Given the description of an element on the screen output the (x, y) to click on. 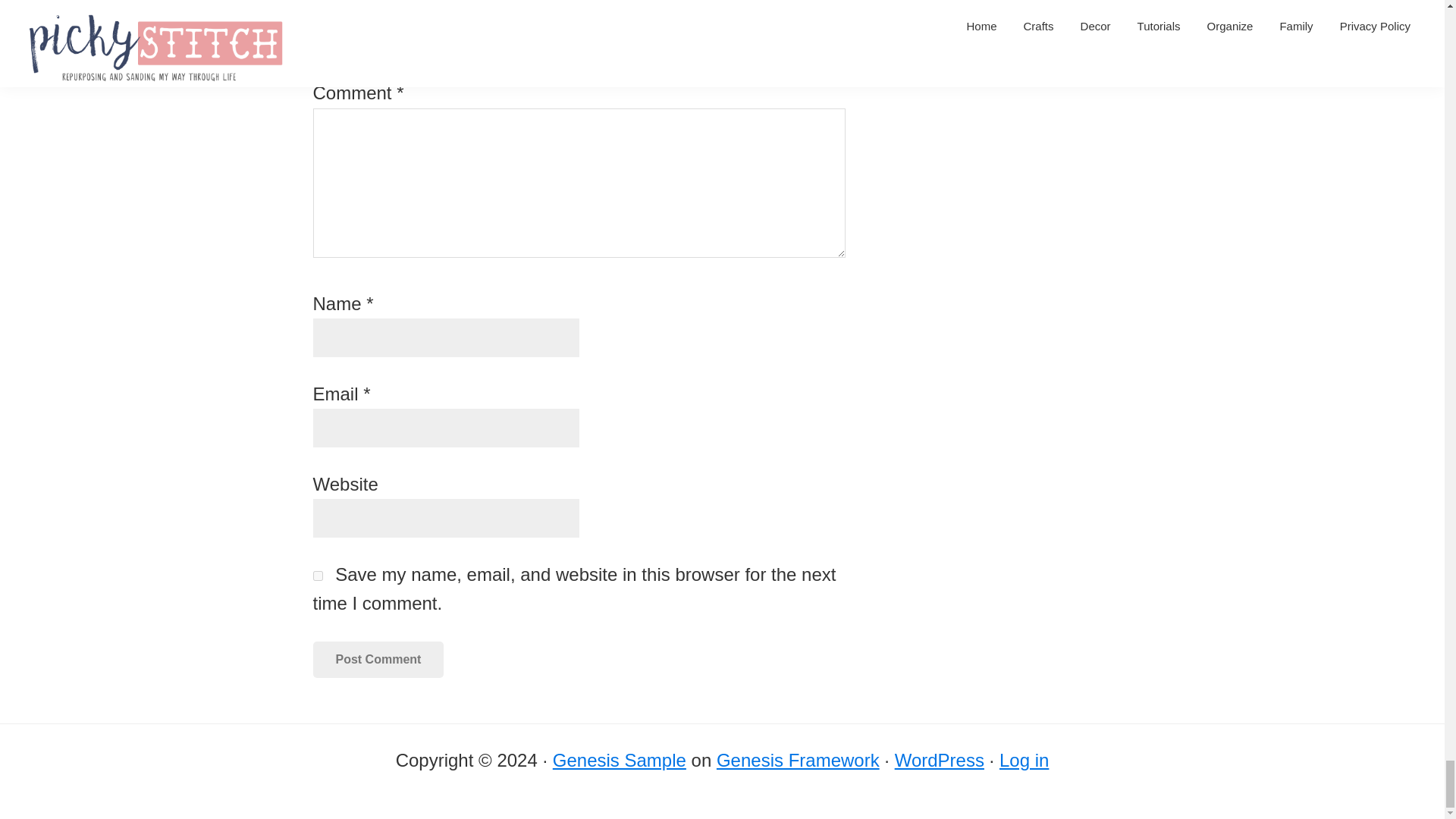
Post Comment (378, 659)
yes (317, 575)
